Given the description of an element on the screen output the (x, y) to click on. 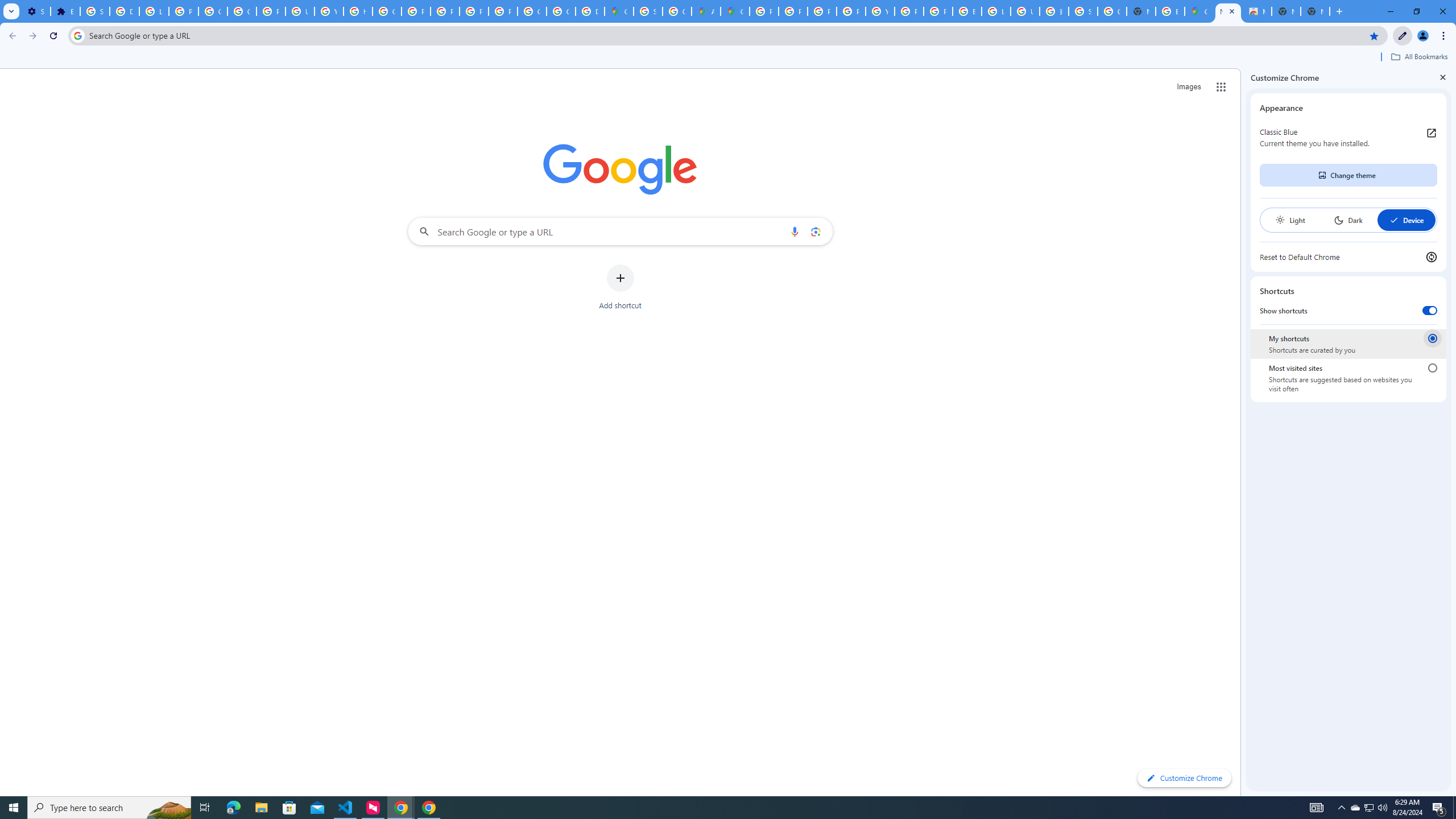
YouTube (327, 11)
Customize Chrome (1402, 35)
Search by image (816, 230)
Sign in - Google Accounts (648, 11)
Device (1406, 219)
AutomationID: baseSvg (1394, 219)
Classic Blue Current theme you have installed. (1347, 137)
